Given the description of an element on the screen output the (x, y) to click on. 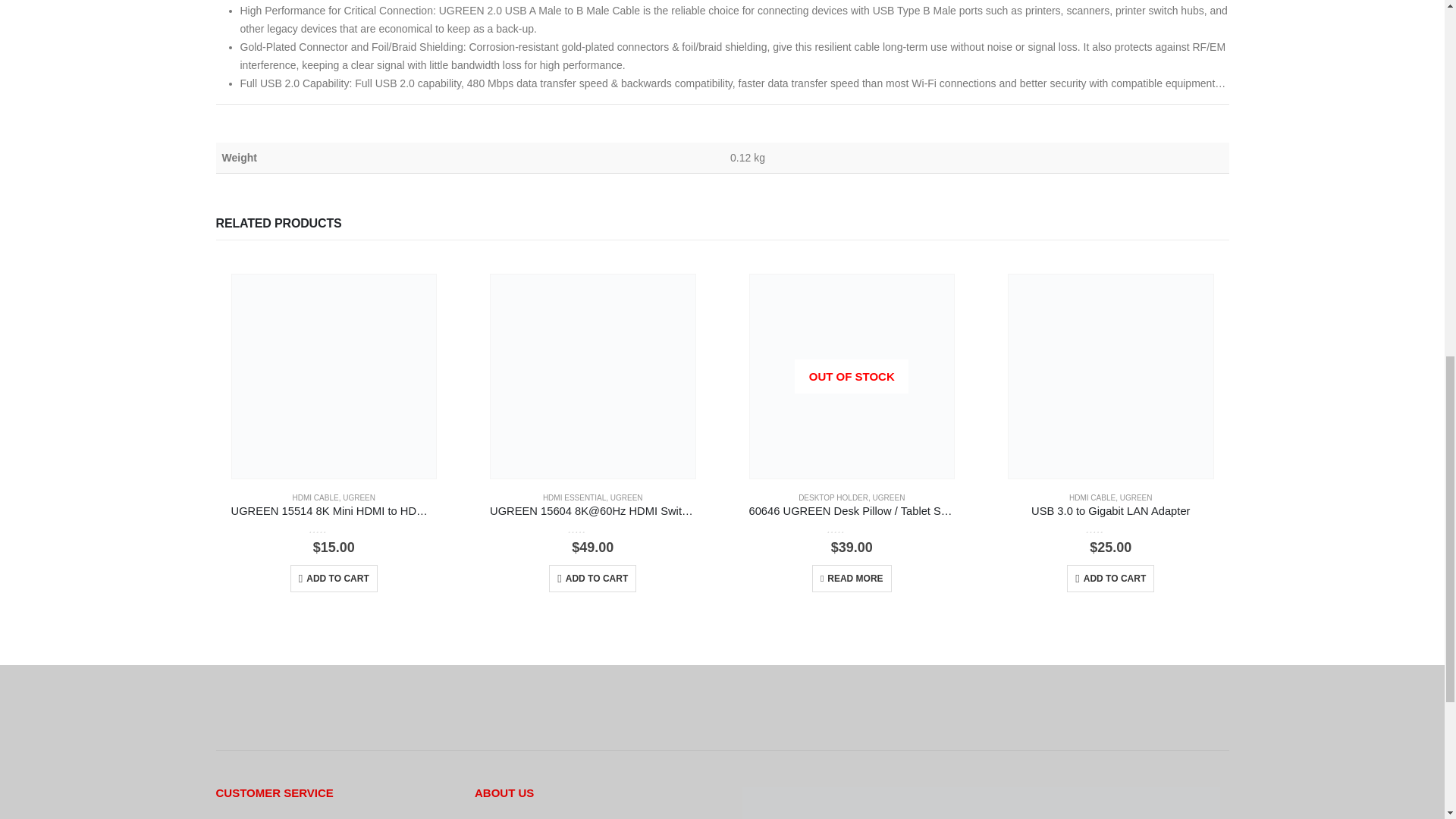
0 (333, 528)
0 (592, 528)
UGREEN (358, 497)
UGREEN (888, 497)
HDMI CABLE (315, 497)
HDMI ESSENTIAL (574, 497)
OUT OF STOCK (851, 376)
ADD TO CART (592, 578)
DESKTOP HOLDER (832, 497)
UGREEN (626, 497)
